Given the description of an element on the screen output the (x, y) to click on. 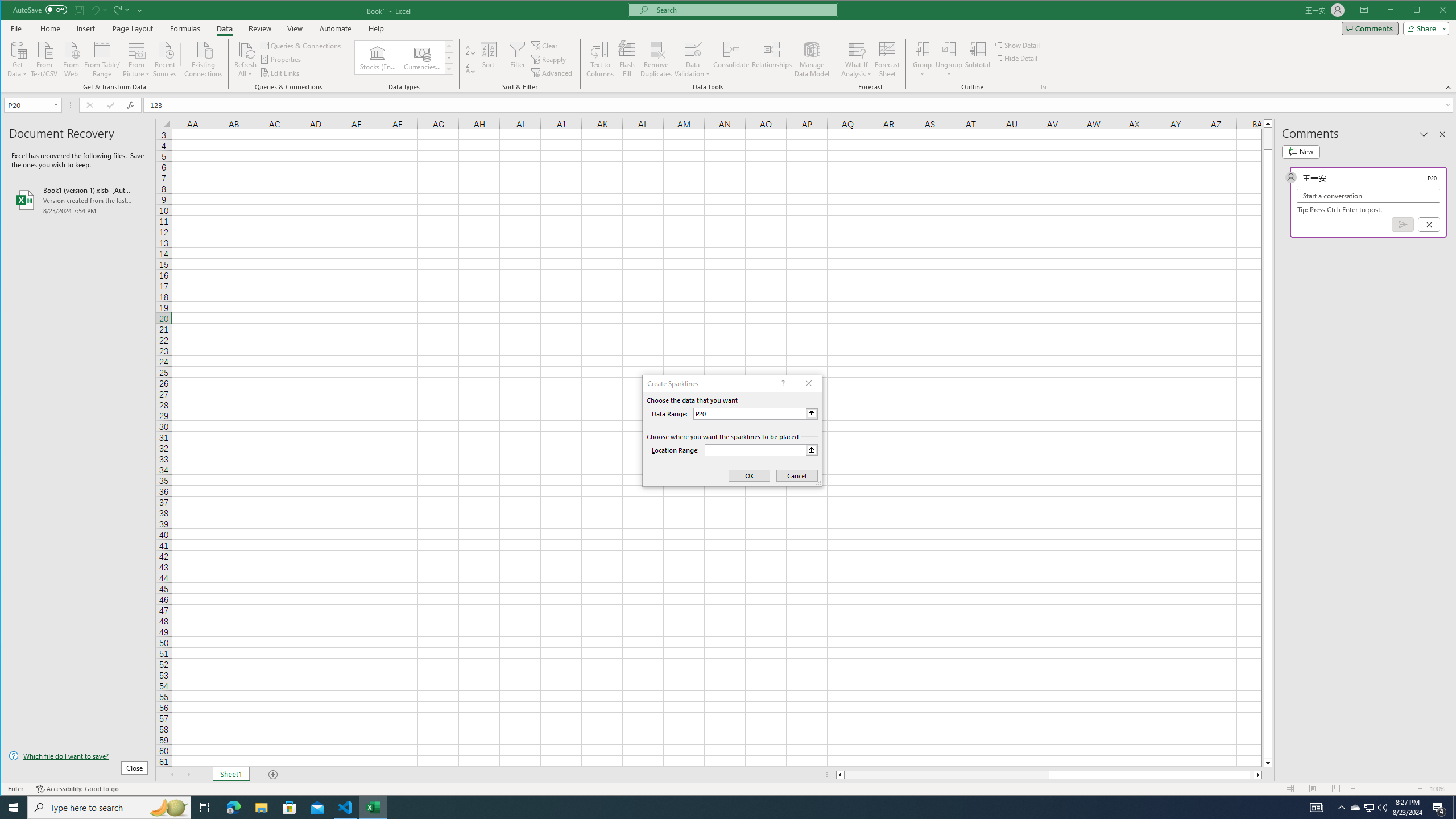
What-If Analysis (856, 59)
Relationships (772, 59)
Page up (1267, 138)
Currencies (English) (422, 57)
Page left (946, 774)
Properties (280, 59)
Group... (922, 59)
AutomationID: ConvertToLinkedEntity (403, 57)
Maximize (1432, 11)
Book1 (version 1).xlsb  [AutoRecovered] (78, 199)
Text to Columns... (600, 59)
Get Data (17, 57)
Stocks (English) (377, 57)
